Given the description of an element on the screen output the (x, y) to click on. 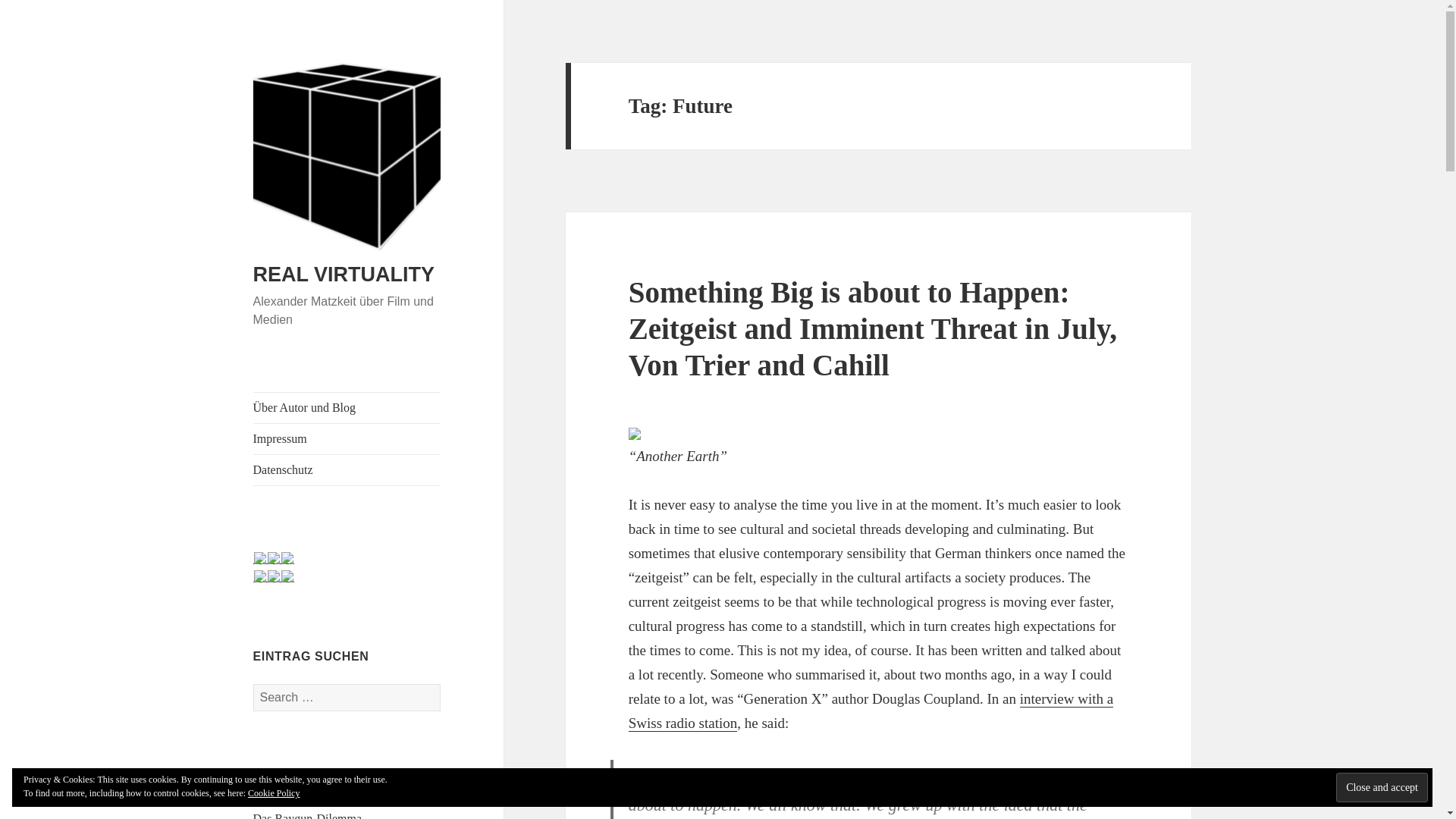
Close and accept (1382, 787)
Datenschutz (347, 470)
interview with a Swiss radio station (870, 711)
Cookie Policy (273, 792)
Das Raygun-Dilemma (307, 815)
Impressum (347, 439)
